Given the description of an element on the screen output the (x, y) to click on. 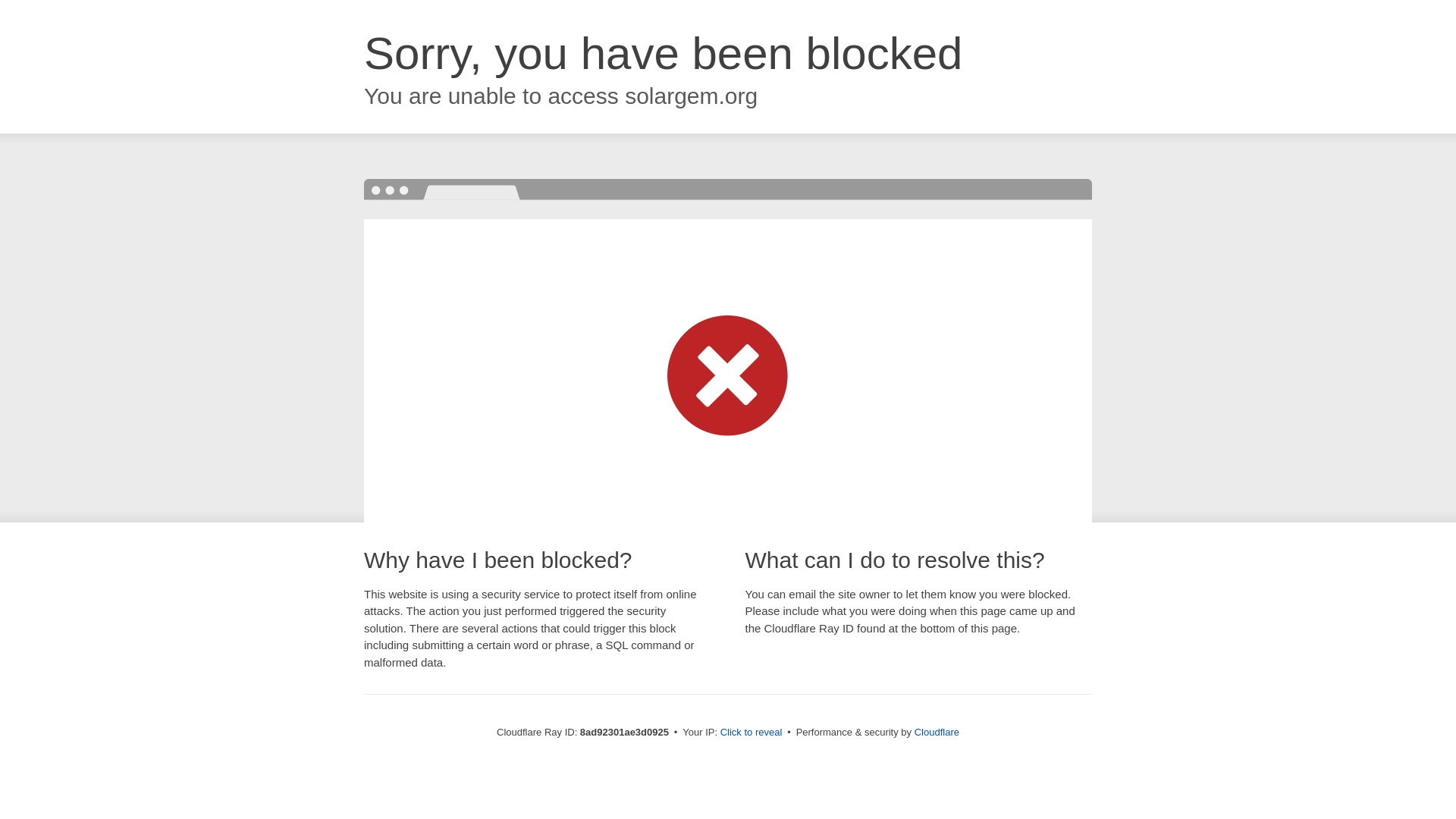
Cloudflare (936, 731)
Click to reveal (751, 732)
